Given the description of an element on the screen output the (x, y) to click on. 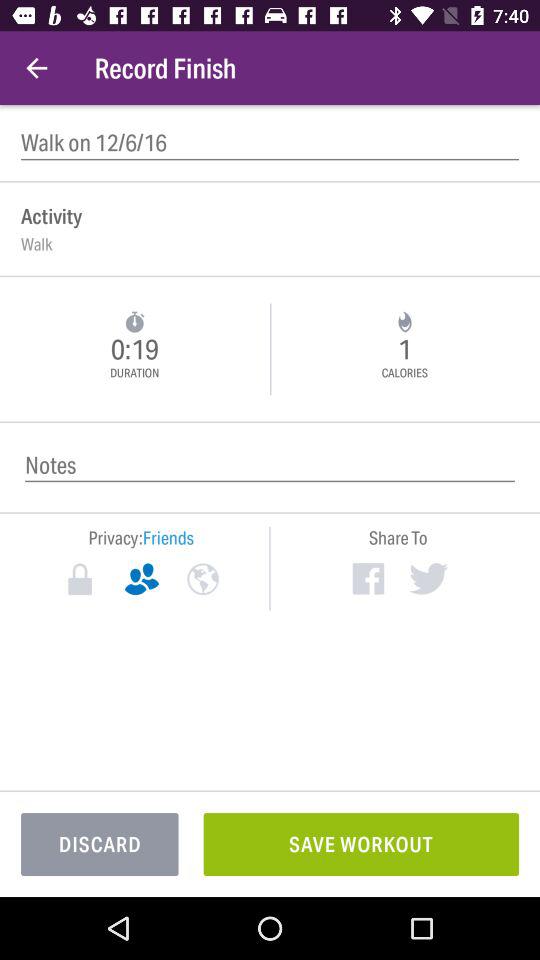
click item below the share to icon (428, 578)
